Given the description of an element on the screen output the (x, y) to click on. 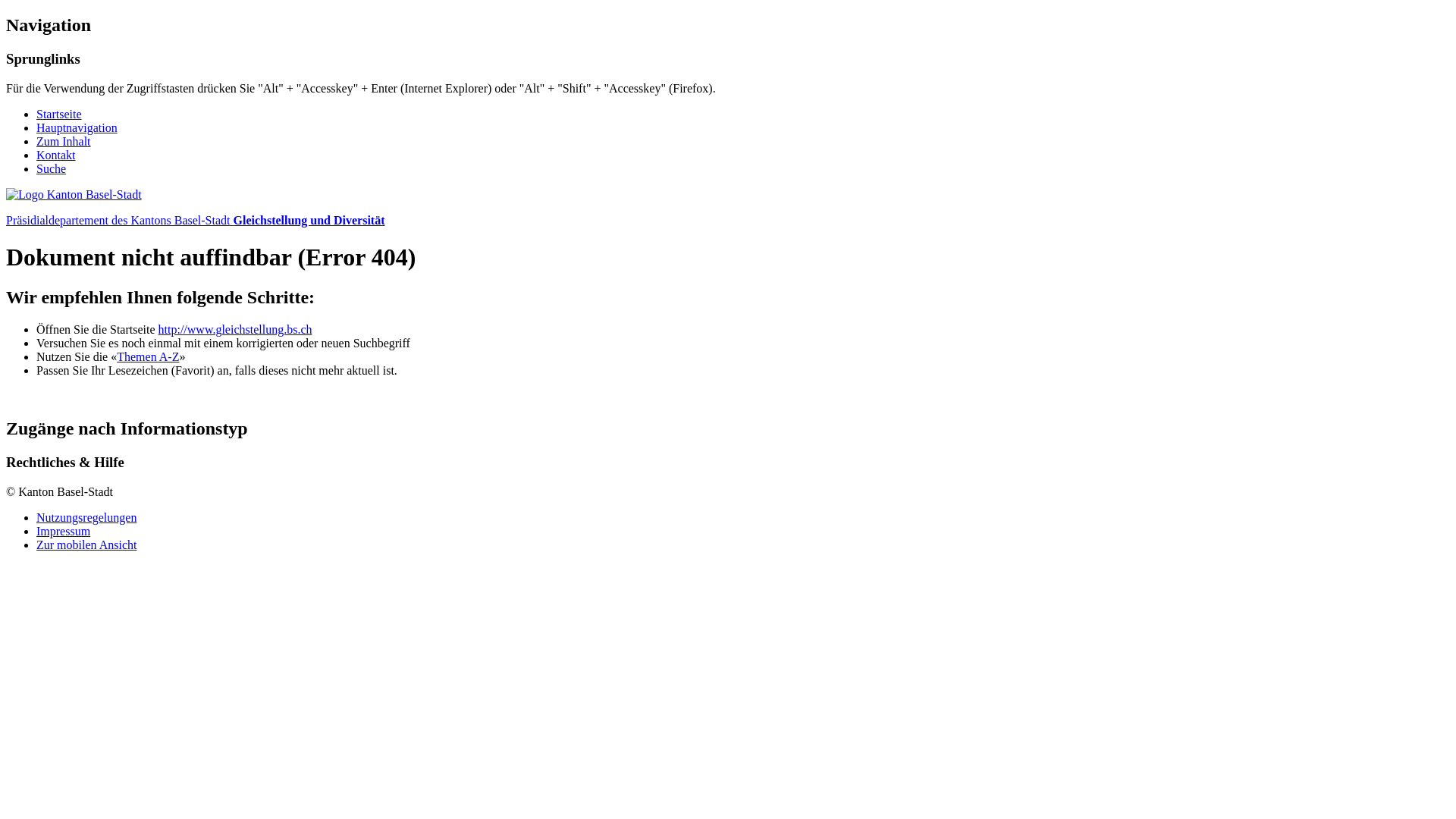
Startseite Element type: text (58, 113)
Zur mobilen Ansicht Element type: text (86, 544)
http://www.gleichstellung.bs.ch Element type: text (235, 329)
Kontakt Element type: text (55, 154)
Themen A-Z Element type: text (147, 356)
Nutzungsregelungen Element type: text (86, 517)
Zum Inhalt Element type: text (63, 140)
Suche Element type: text (50, 168)
Hauptnavigation Element type: text (76, 127)
Impressum Element type: text (63, 530)
